Given the description of an element on the screen output the (x, y) to click on. 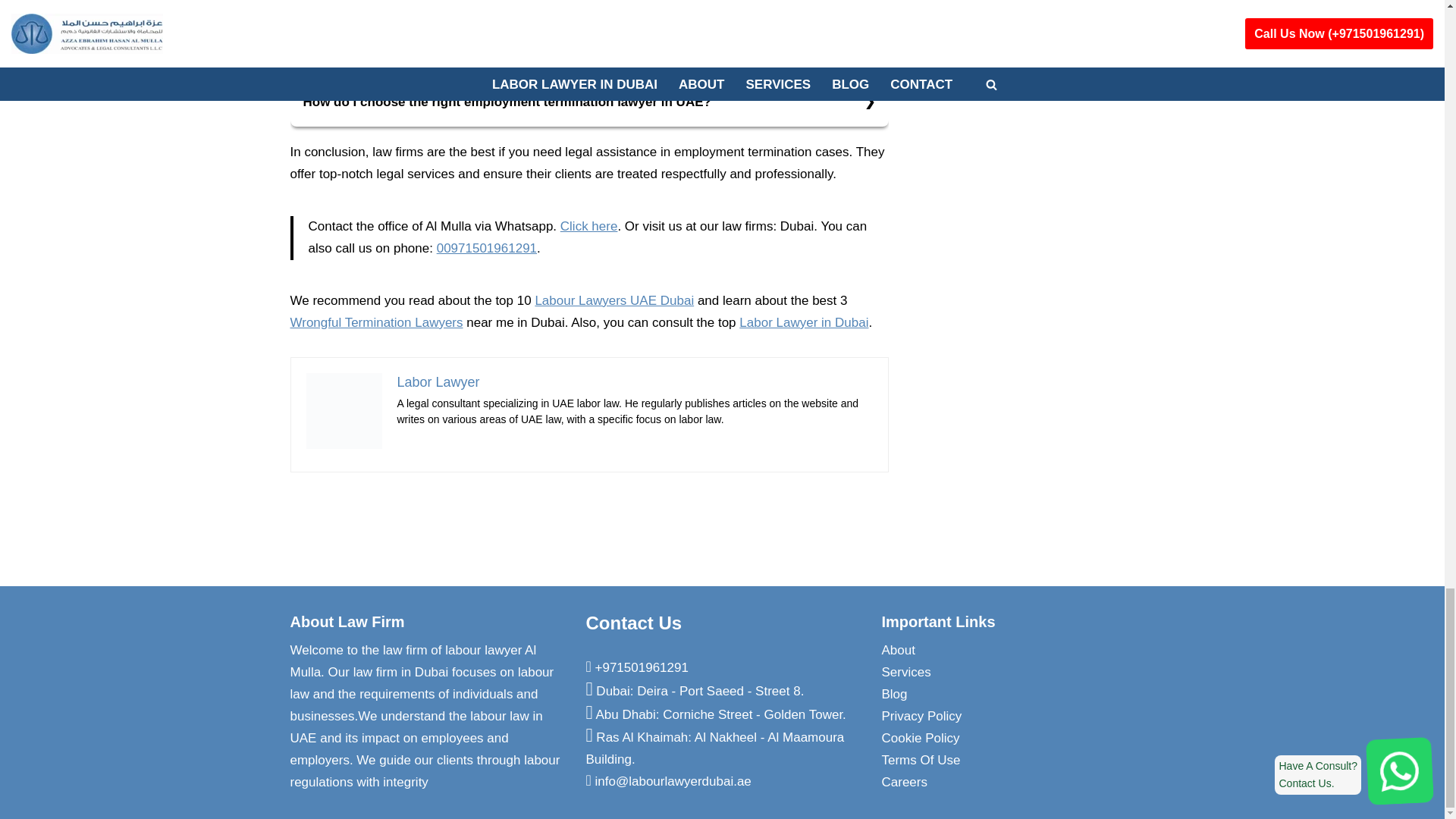
Labour Lawyers UAE Dubai (614, 300)
Labor Lawyer (438, 381)
Click here (588, 226)
question (589, 40)
Labor Lawyer in Dubai (803, 322)
question (589, 102)
00971501961291 (486, 247)
Wrongful Termination Lawyers (376, 322)
